Given the description of an element on the screen output the (x, y) to click on. 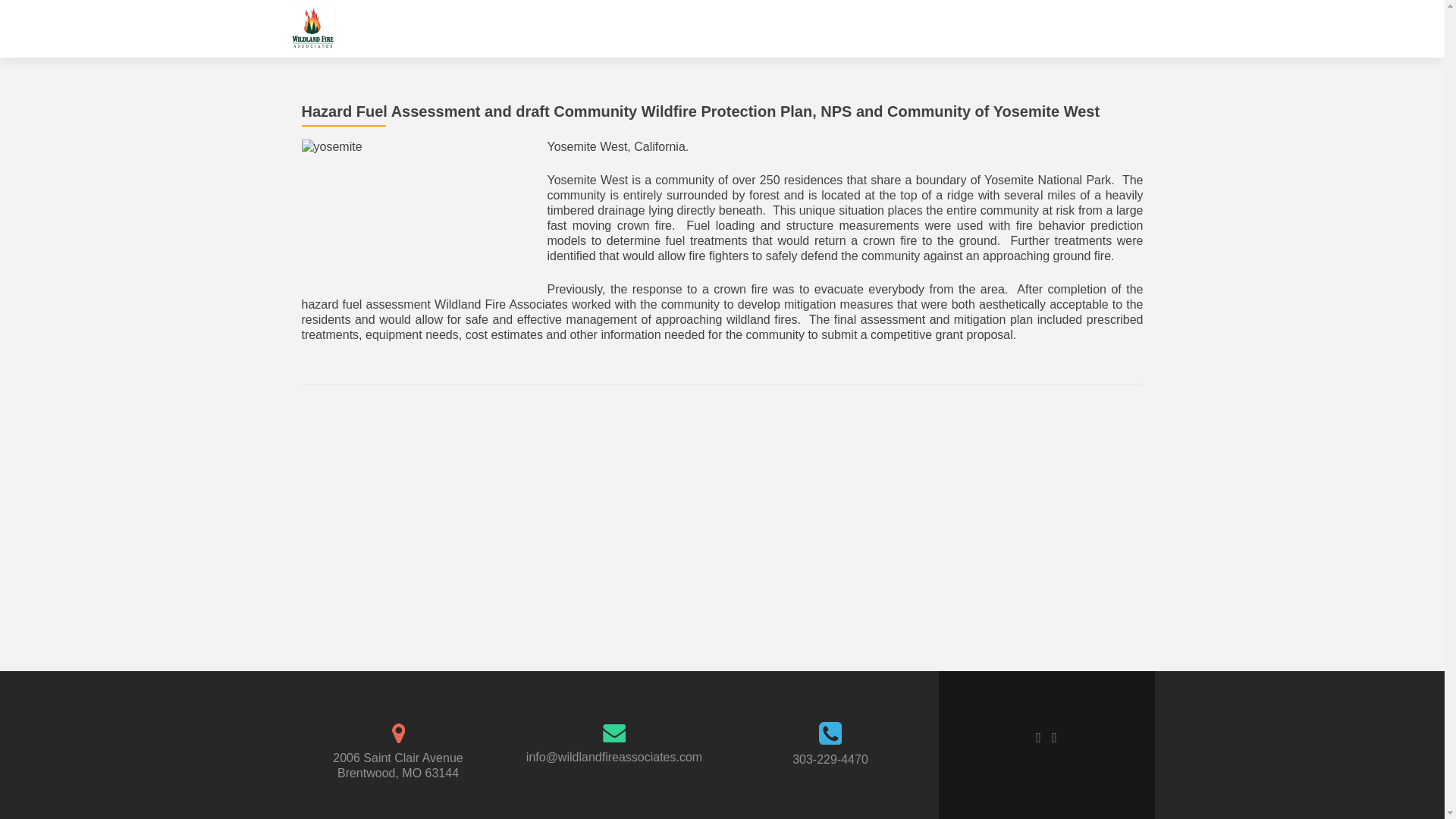
People (1027, 28)
303-229-4470 (829, 758)
Services (906, 28)
Contact (1133, 28)
About (1081, 28)
Projects (966, 28)
